Given the description of an element on the screen output the (x, y) to click on. 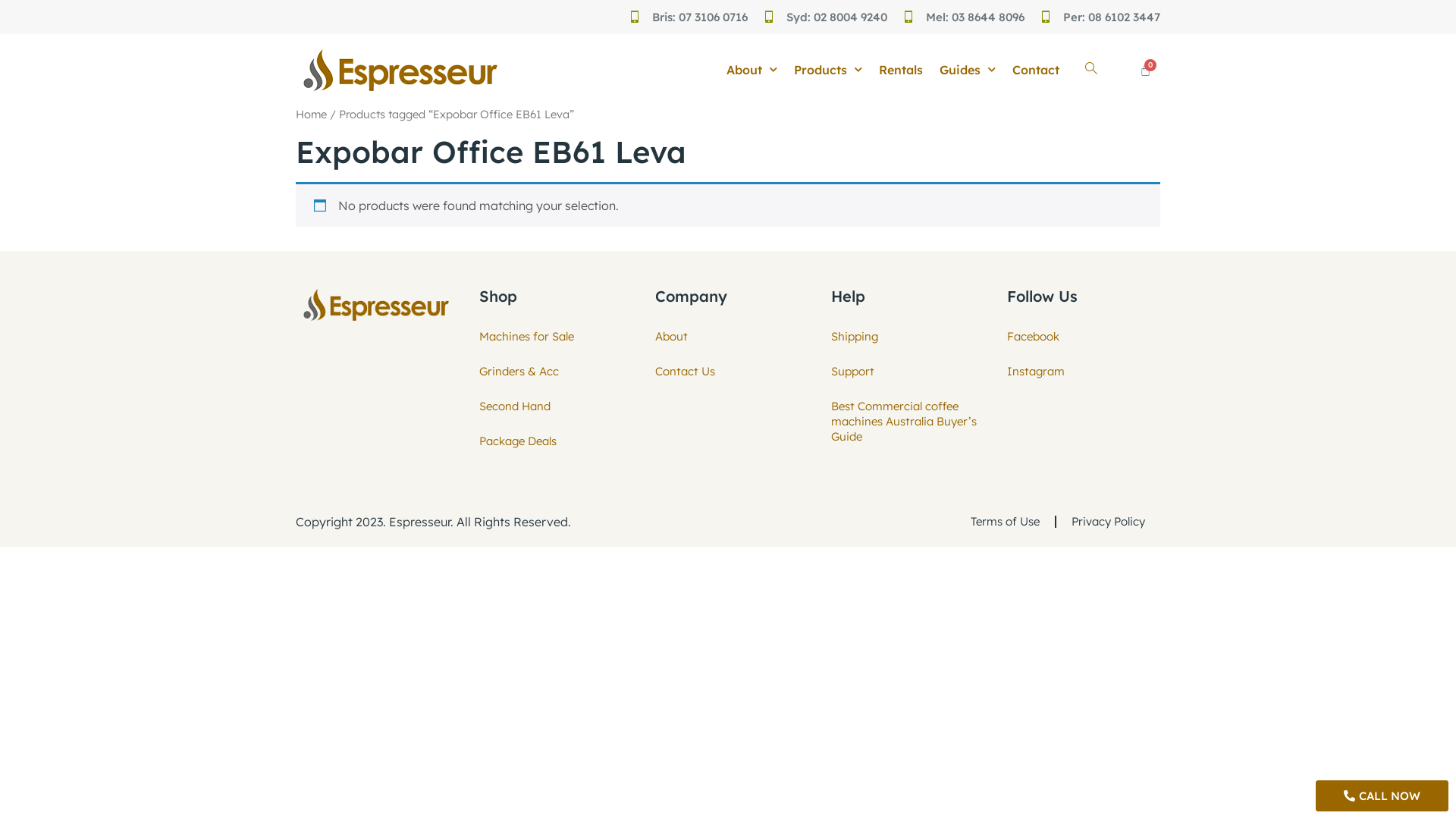
Package Deals Element type: text (526, 440)
Grinders & Acc Element type: text (526, 371)
About Element type: text (751, 69)
Mel: 03 8644 8096 Element type: text (974, 16)
Terms of Use Element type: text (1004, 521)
Support Element type: text (903, 371)
Rentals Element type: text (900, 69)
0 Element type: text (1145, 69)
Guides Element type: text (967, 69)
CALL NOW Element type: text (1381, 795)
Shipping Element type: text (903, 336)
Privacy Policy Element type: text (1108, 521)
Facebook Element type: text (1079, 336)
Syd: 02 8004 9240 Element type: text (836, 16)
Bris: 07 3106 0716 Element type: text (699, 16)
About Element type: text (727, 336)
Home Element type: text (310, 113)
Second Hand Element type: text (526, 406)
Products Element type: text (827, 69)
Machines for Sale Element type: text (526, 336)
Per: 08 6102 3447 Element type: text (1111, 16)
Contact Element type: text (1035, 69)
Instagram Element type: text (1079, 371)
Contact Us Element type: text (727, 371)
